Given the description of an element on the screen output the (x, y) to click on. 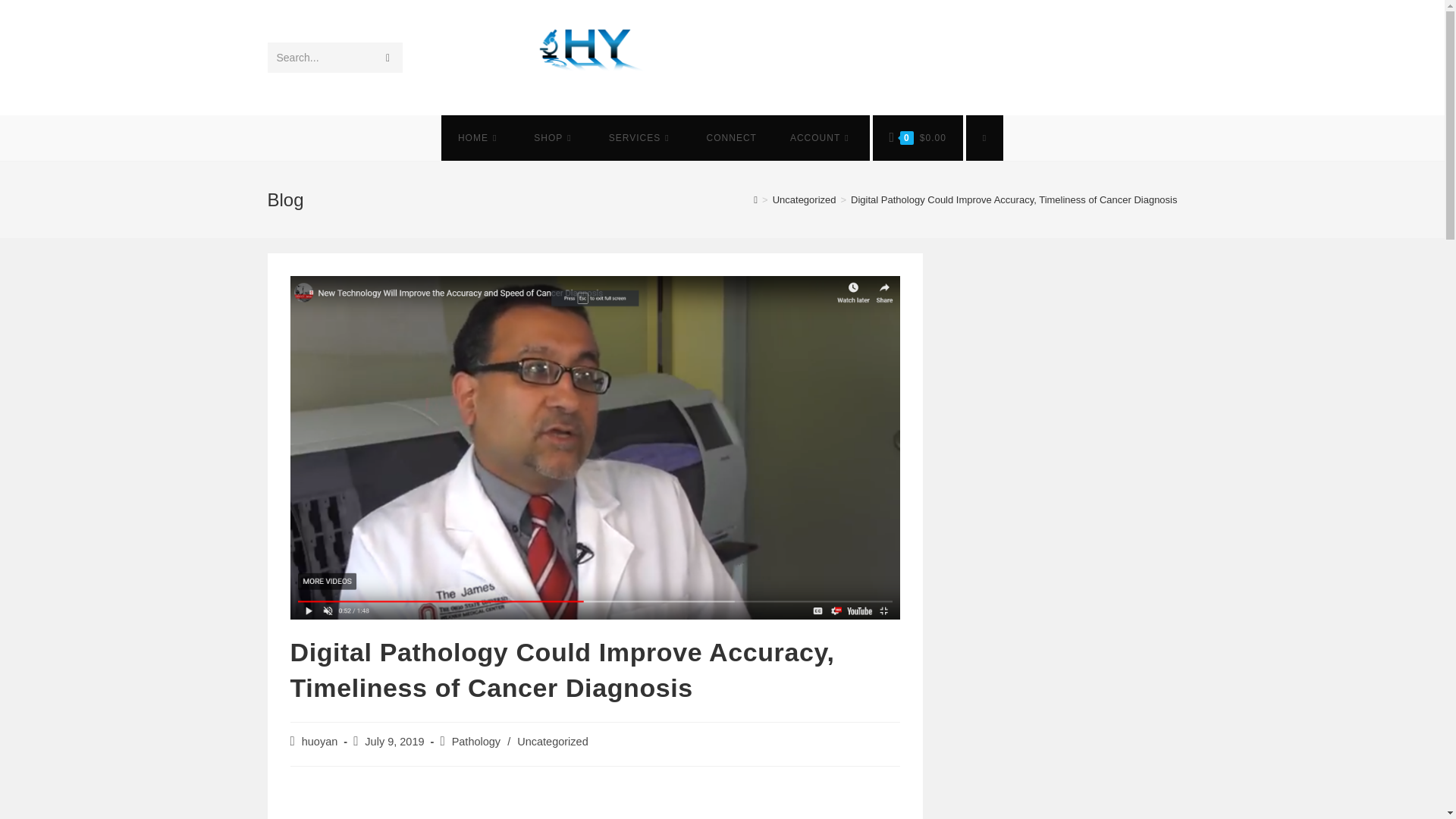
Uncategorized (804, 199)
HOME (478, 137)
huoyan (319, 741)
Uncategorized (552, 741)
Pathology (475, 741)
SERVICES (641, 137)
SHOP (553, 137)
Posts by huoyan (319, 741)
CONNECT (731, 137)
